Given the description of an element on the screen output the (x, y) to click on. 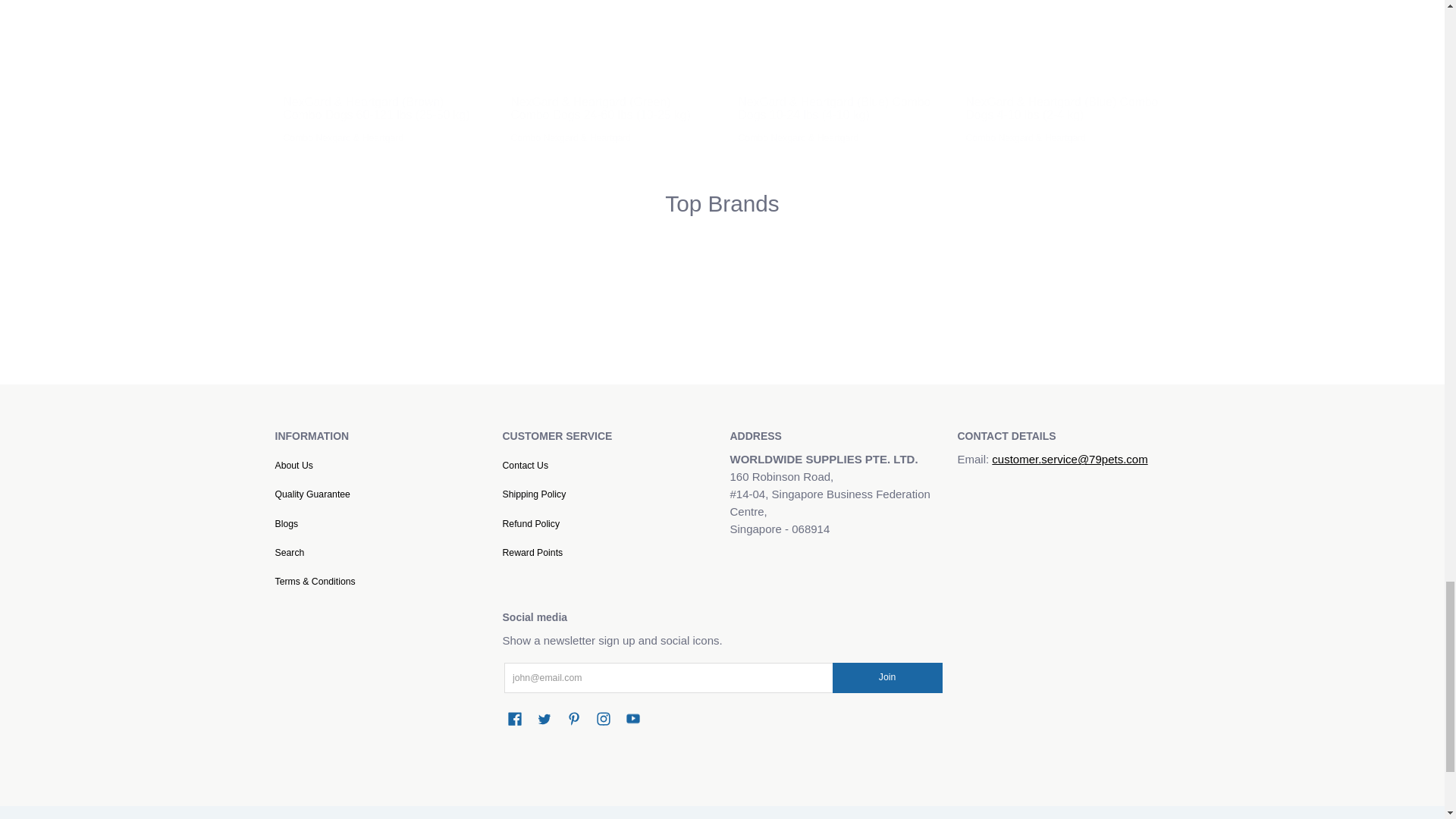
7568592208104 (516, 67)
7568515367144 (972, 67)
7568426008808 (744, 67)
7568556228840 (289, 67)
